Given the description of an element on the screen output the (x, y) to click on. 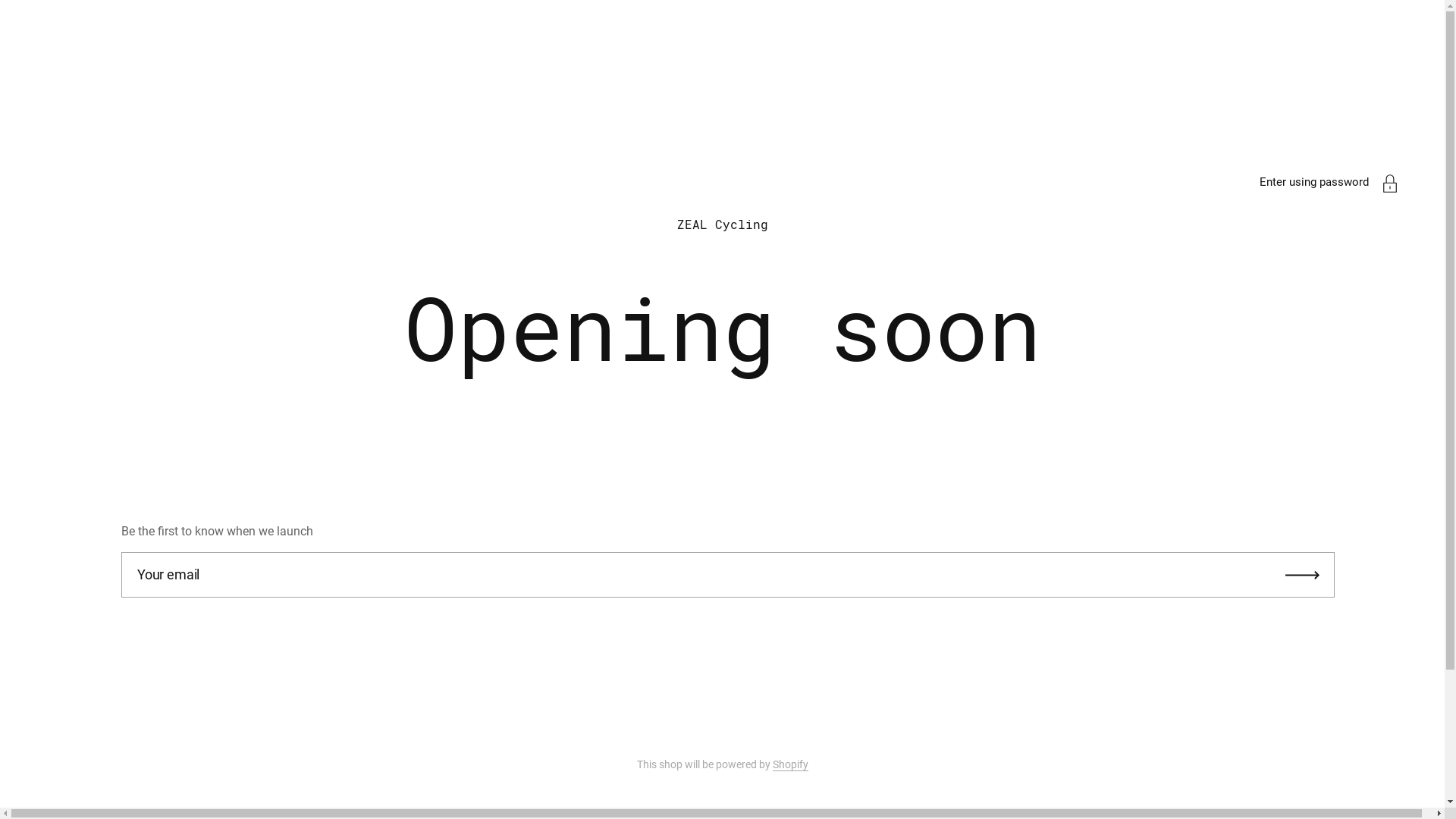
Shopify Element type: text (789, 764)
Submit Element type: text (1302, 574)
Skip to content Element type: text (0, 144)
ZEAL Cycling Element type: text (721, 224)
Enter using password Element type: text (1313, 181)
